Given the description of an element on the screen output the (x, y) to click on. 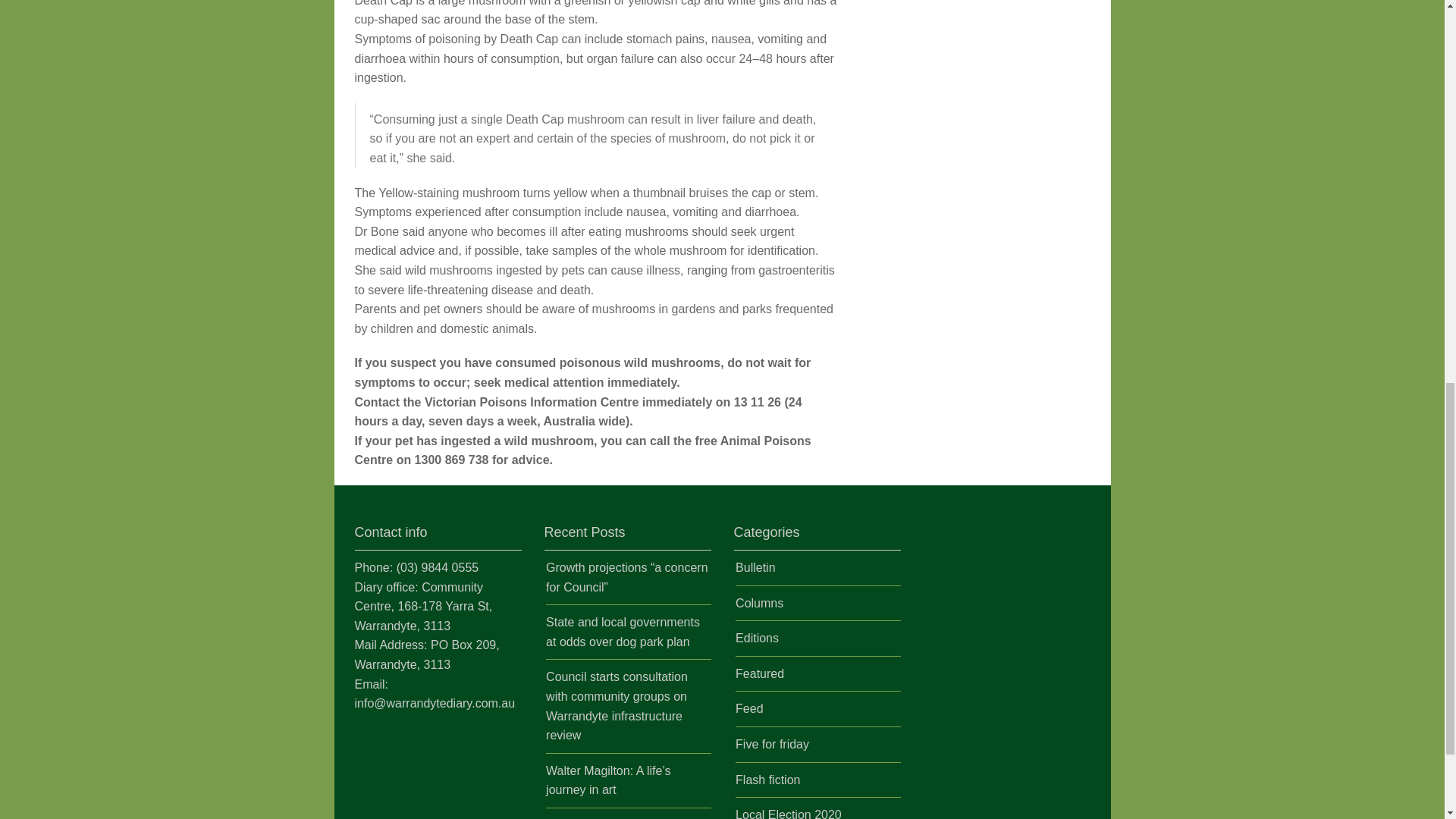
Featured (759, 673)
Editions (756, 637)
Columns (759, 603)
Local Election 2020 (788, 813)
Five for friday (772, 744)
Flash fiction (767, 779)
Feed (748, 707)
State and local governments at odds over dog park plan (623, 631)
Bulletin (754, 567)
